Given the description of an element on the screen output the (x, y) to click on. 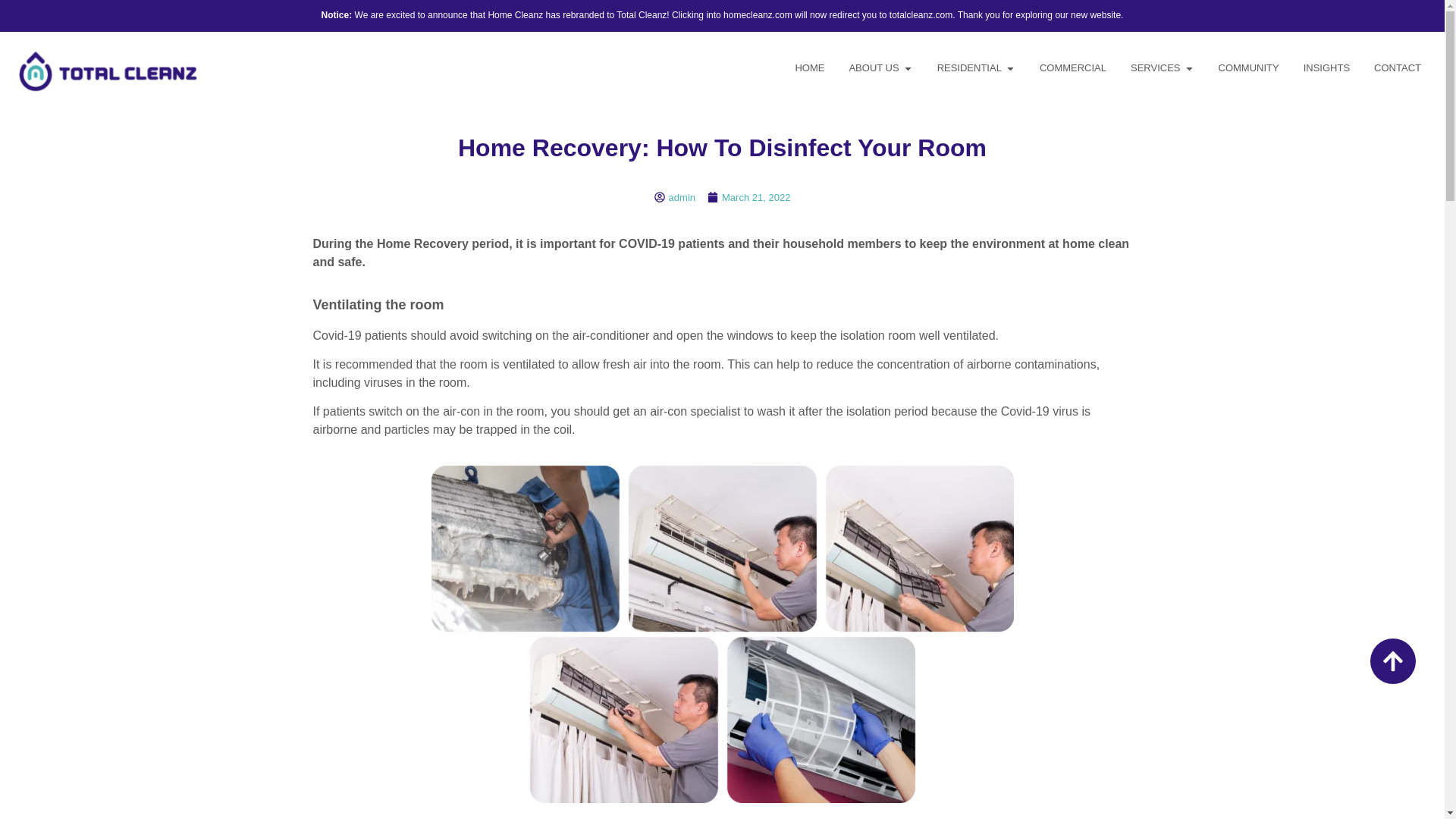
HOME (809, 68)
CONTACT (1397, 68)
COMMUNITY (1248, 68)
INSIGHTS (1326, 68)
RESIDENTIAL (969, 68)
COMMERCIAL (1072, 68)
SERVICES (1155, 68)
